Given the description of an element on the screen output the (x, y) to click on. 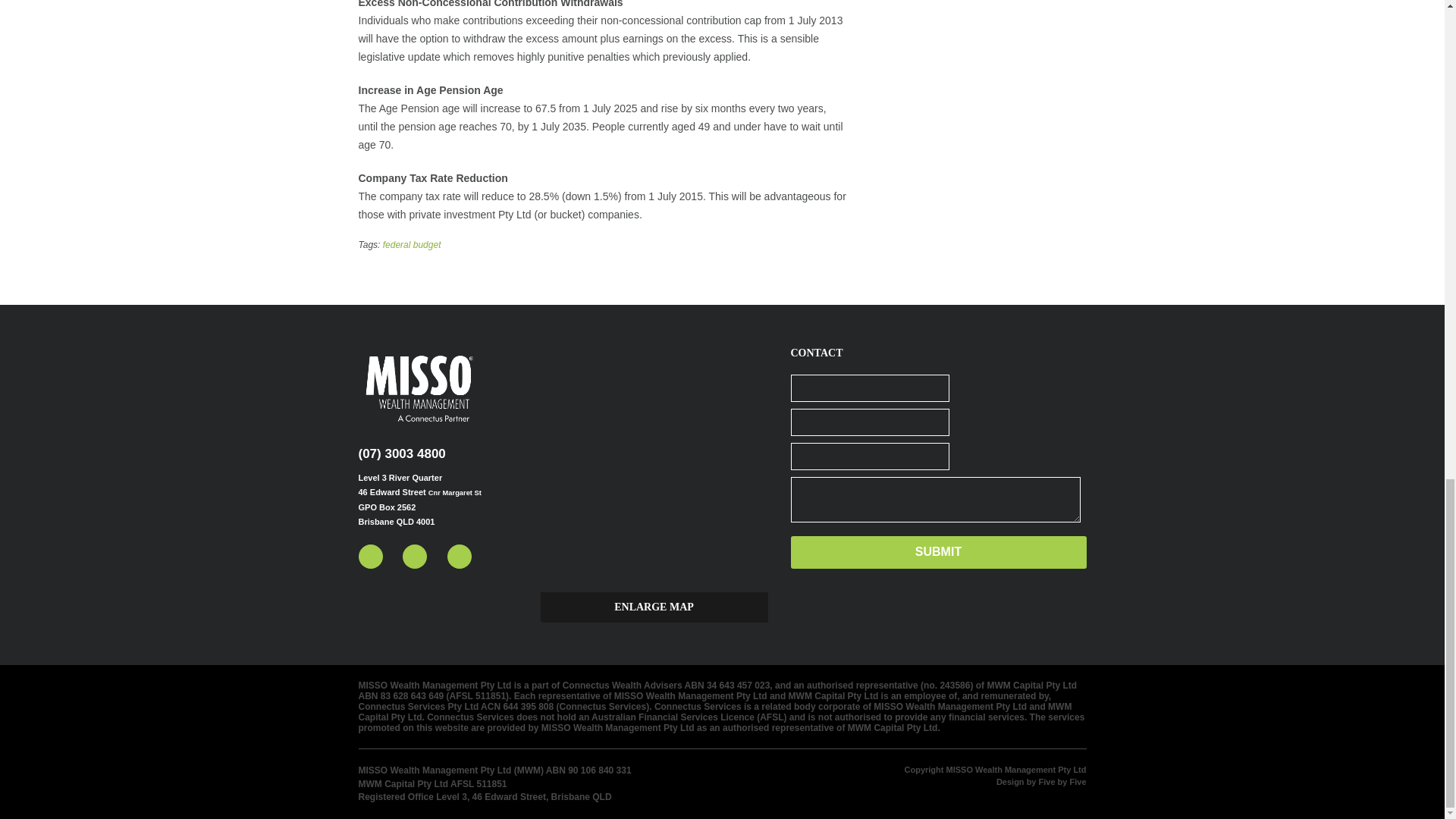
Locate us (653, 607)
Call us Now! (401, 453)
federal budget (411, 244)
Five by Five (1040, 781)
Linkedin (414, 556)
Twitter (369, 556)
Submit (938, 552)
